Given the description of an element on the screen output the (x, y) to click on. 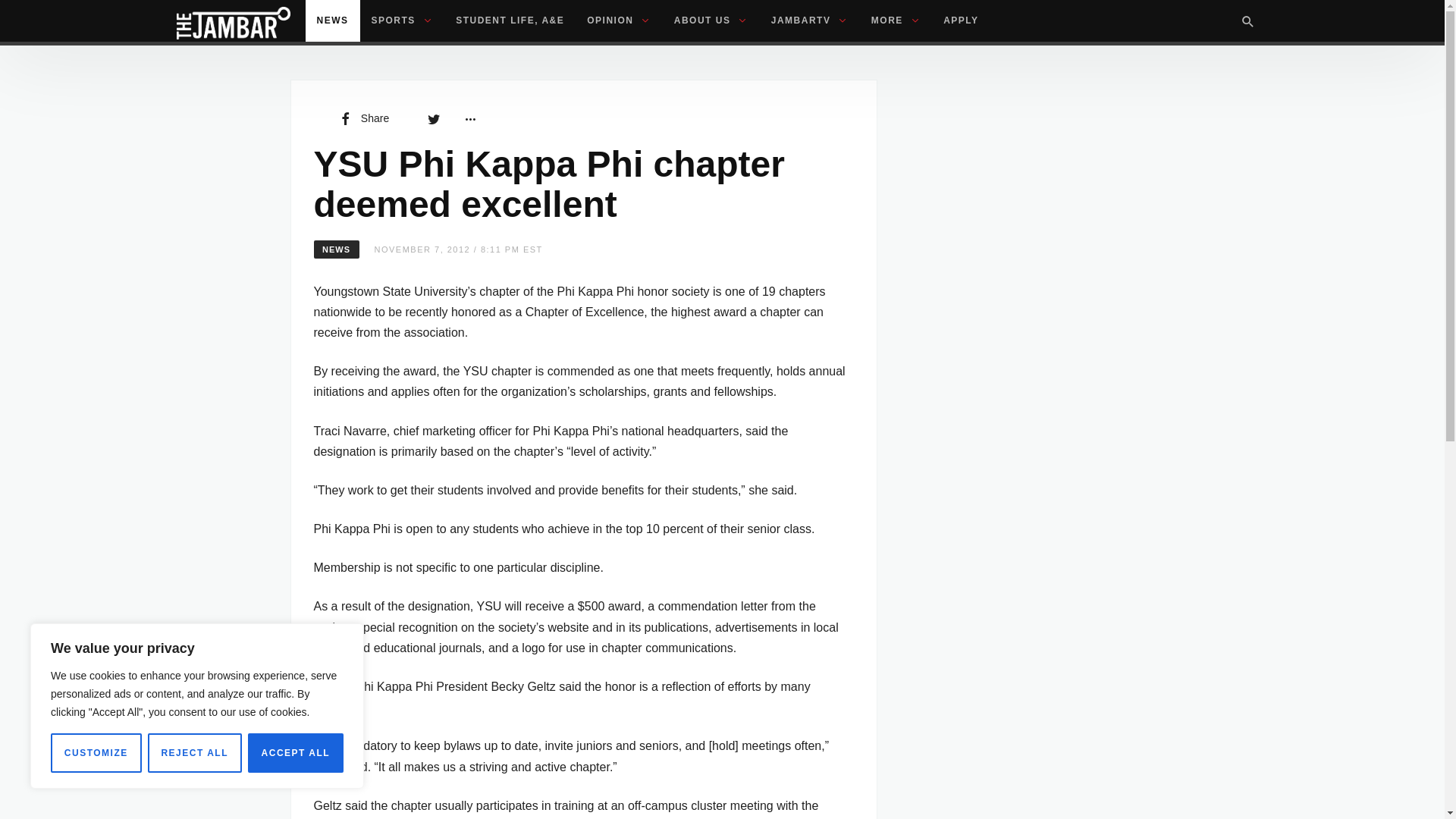
More (469, 118)
ABOUT US (711, 20)
CUSTOMIZE (95, 753)
MORE (895, 20)
NEWS (331, 20)
Share on Twitter (433, 118)
Share on Facebook (363, 118)
OPINION (618, 20)
SPORTS (401, 20)
View all posts in News (336, 249)
REJECT ALL (194, 753)
JAMBARTV (810, 20)
ACCEPT ALL (295, 753)
